Given the description of an element on the screen output the (x, y) to click on. 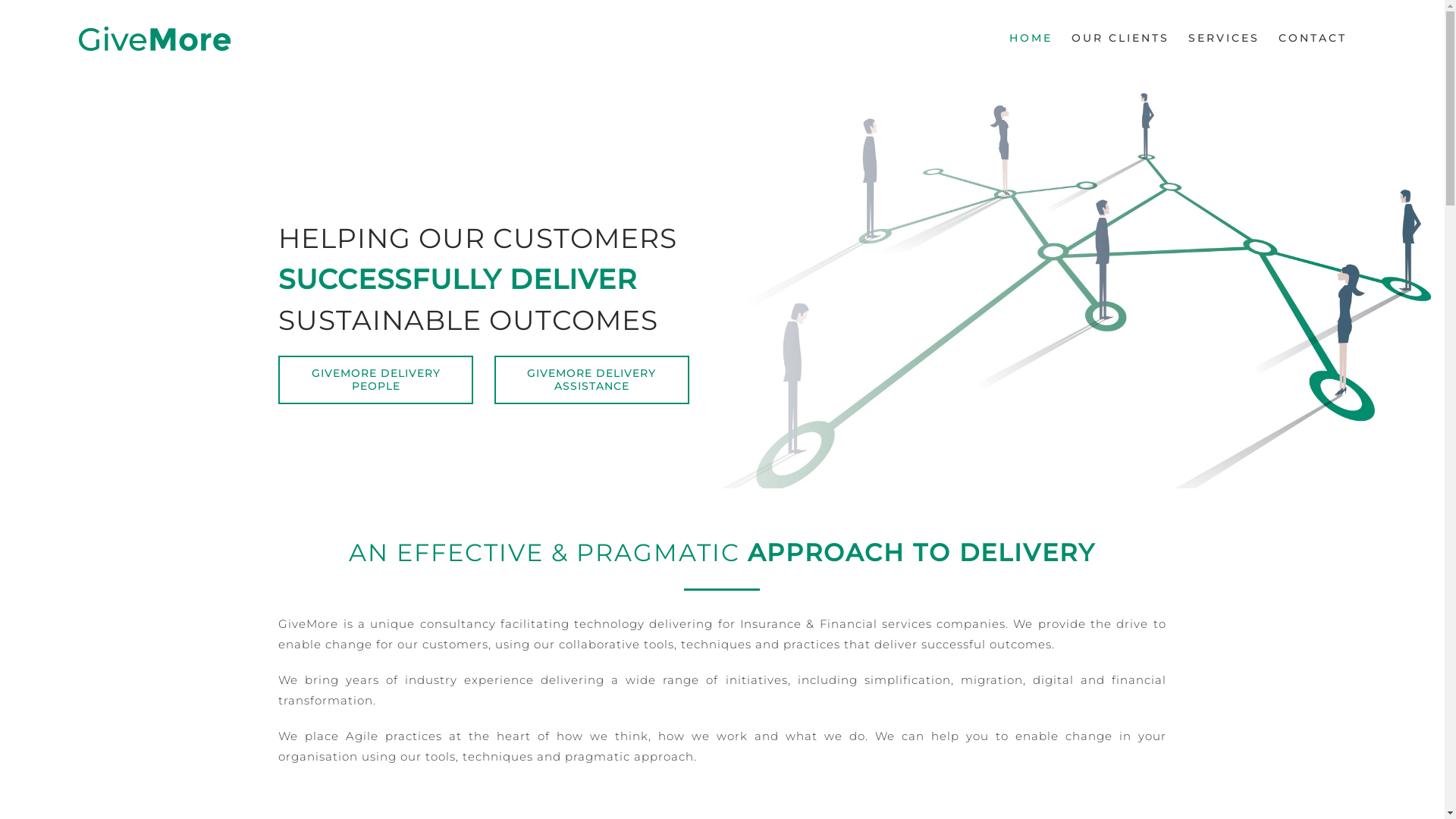
HOME Element type: text (1030, 37)
SERVICES Element type: text (1223, 37)
GIVEMORE DELIVERY ASSISTANCE Element type: text (591, 378)
GIVEMORE DELIVERY PEOPLE Element type: text (375, 378)
OUR CLIENTS Element type: text (1120, 37)
CONTACT Element type: text (1312, 37)
